Given the description of an element on the screen output the (x, y) to click on. 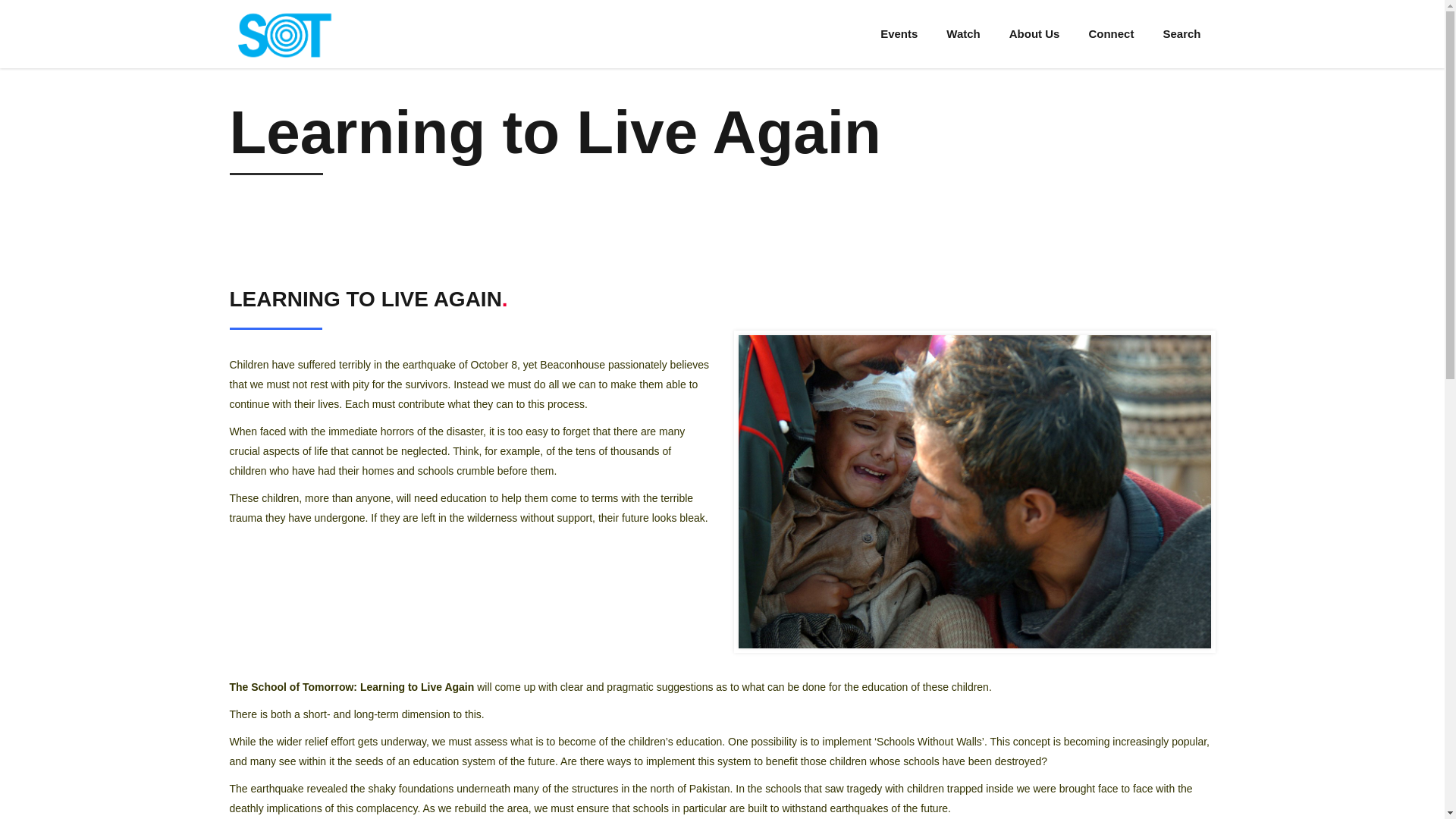
About Us (1034, 33)
Search (1181, 33)
Watch (962, 33)
Connect (1111, 33)
Events (898, 33)
